Given the description of an element on the screen output the (x, y) to click on. 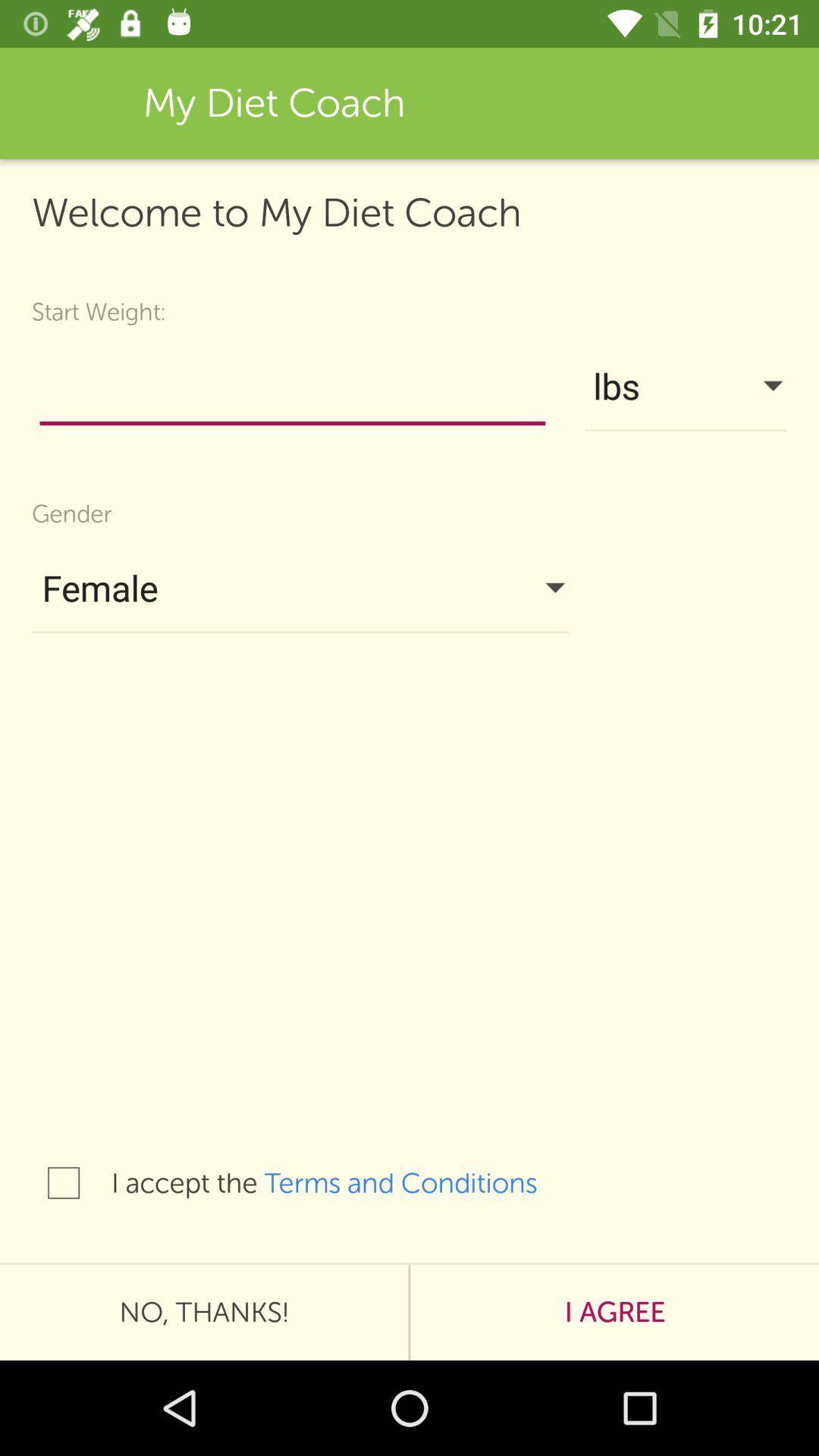
turn on the icon to the left of the i accept the (63, 1182)
